Given the description of an element on the screen output the (x, y) to click on. 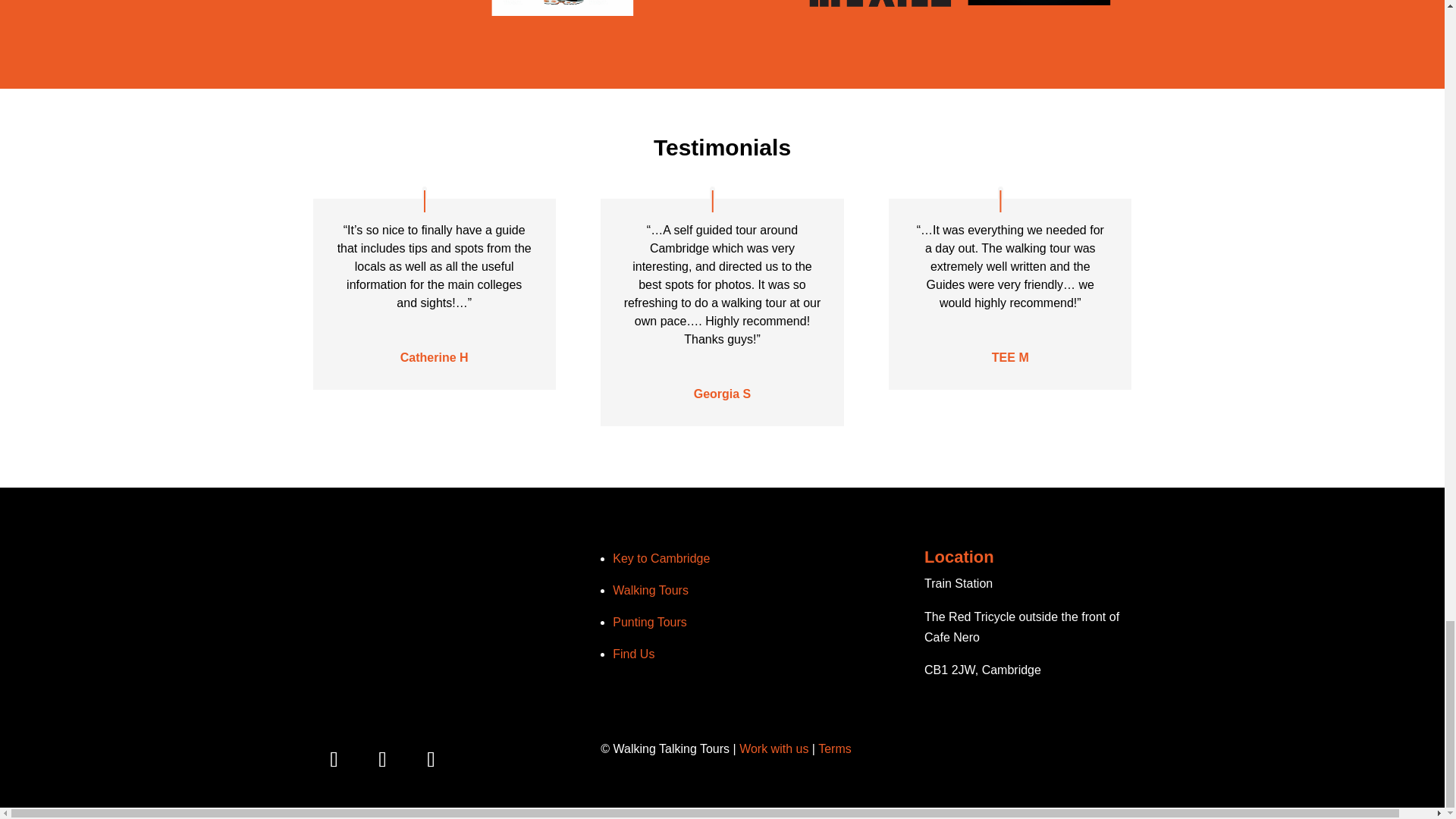
Follow on Facebook (334, 759)
Follow on X (382, 759)
Follow on Instagram (430, 759)
